Given the description of an element on the screen output the (x, y) to click on. 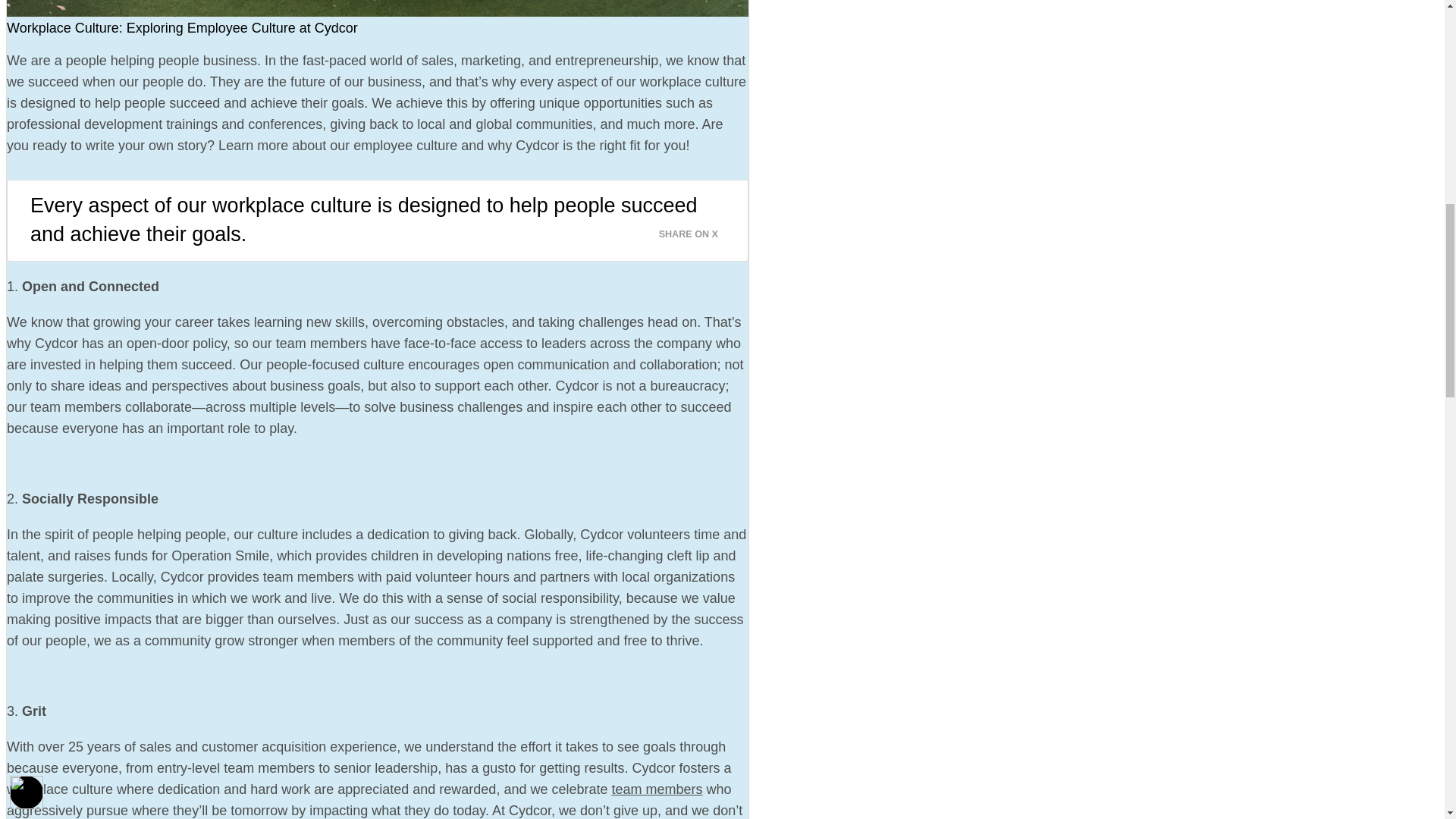
SHARE ON X (697, 229)
team members (656, 789)
